Given the description of an element on the screen output the (x, y) to click on. 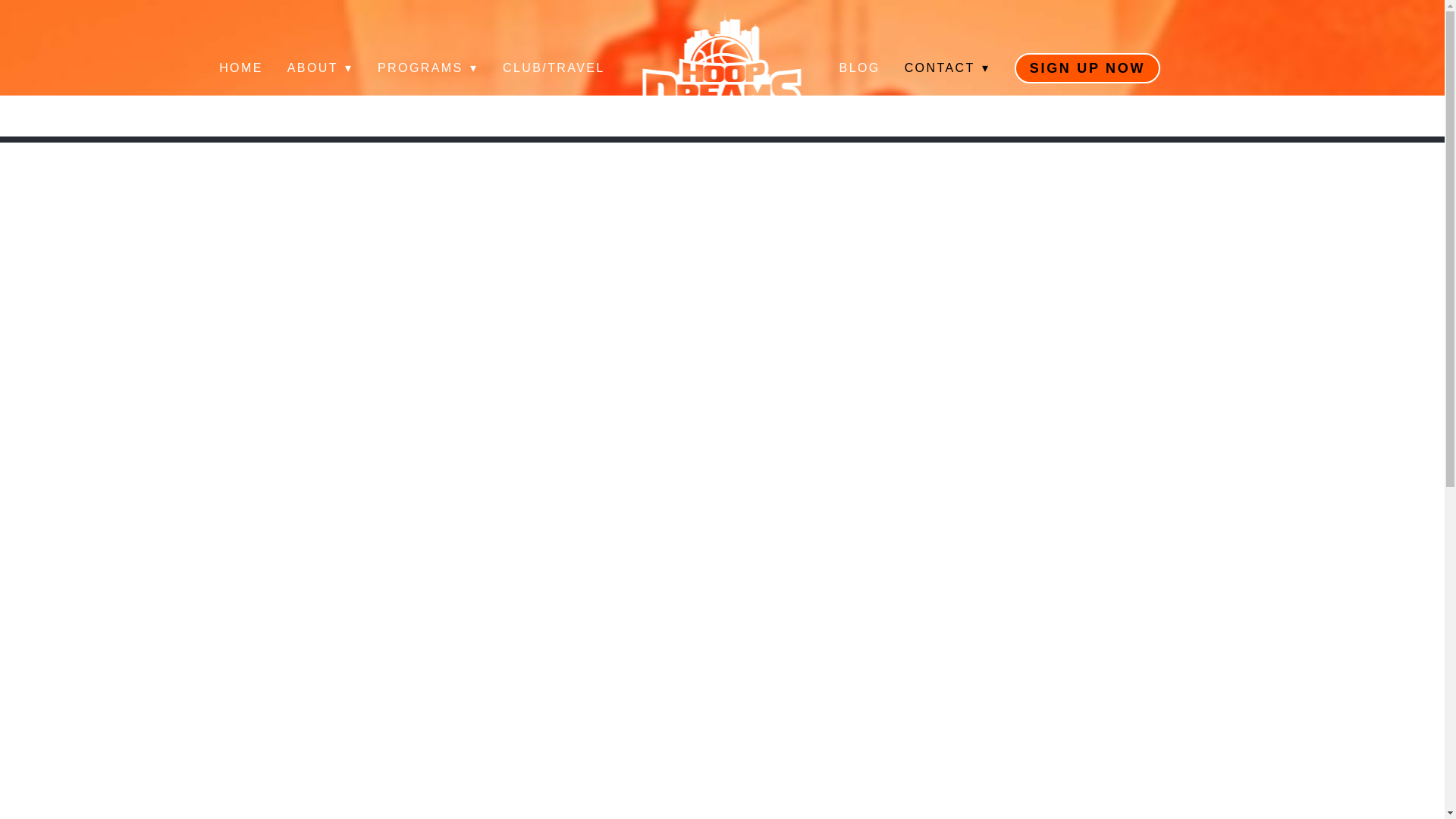
Hoop Dreams (722, 67)
BLOG (860, 68)
SIGN UP NOW (1087, 68)
HOME (241, 68)
